Given the description of an element on the screen output the (x, y) to click on. 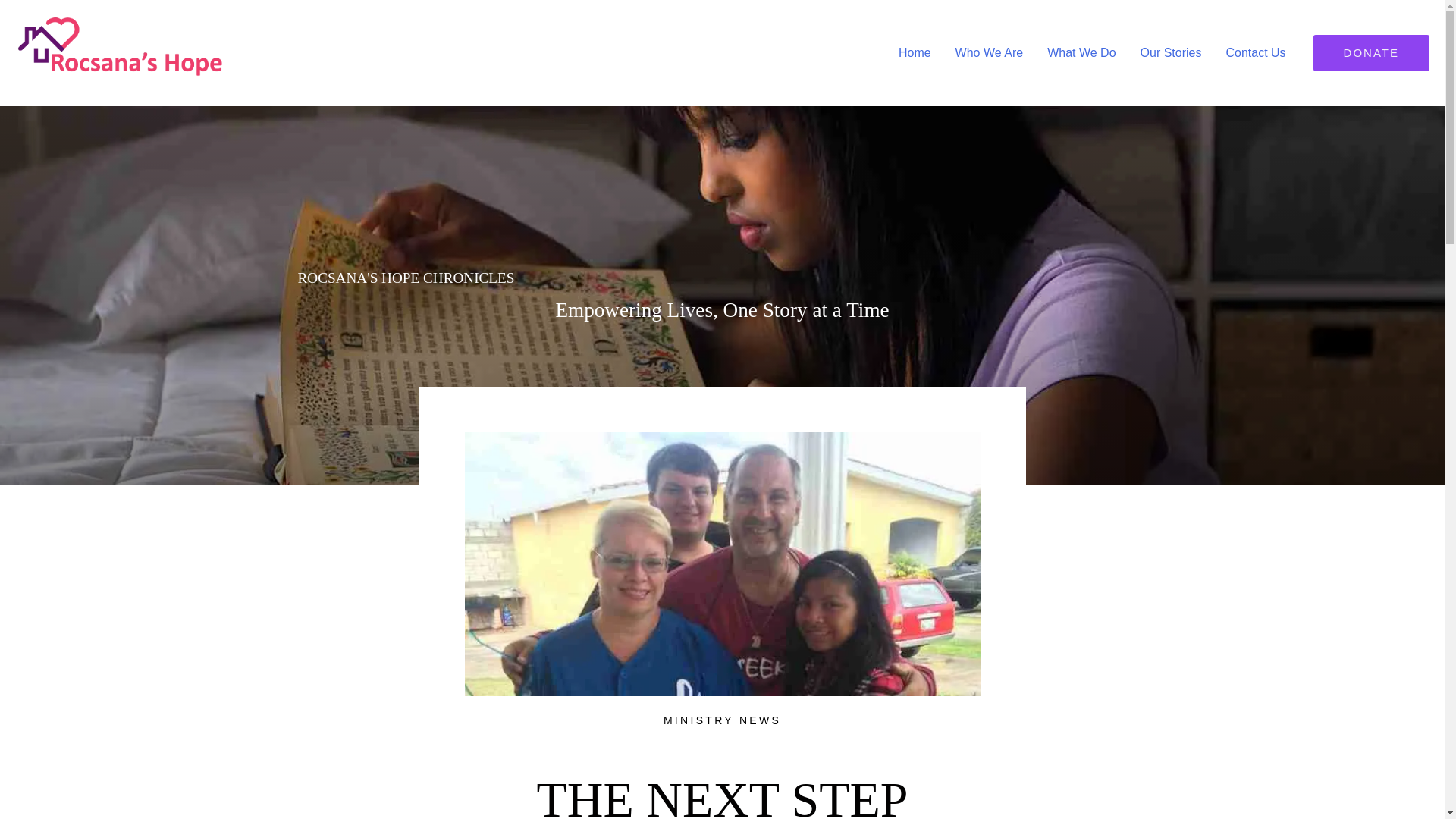
What We Do (1080, 52)
MINISTRY NEWS (721, 720)
Home (914, 52)
Our Stories (1171, 52)
Contact Us (1254, 52)
Who We Are (989, 52)
DONATE (1371, 53)
